Given the description of an element on the screen output the (x, y) to click on. 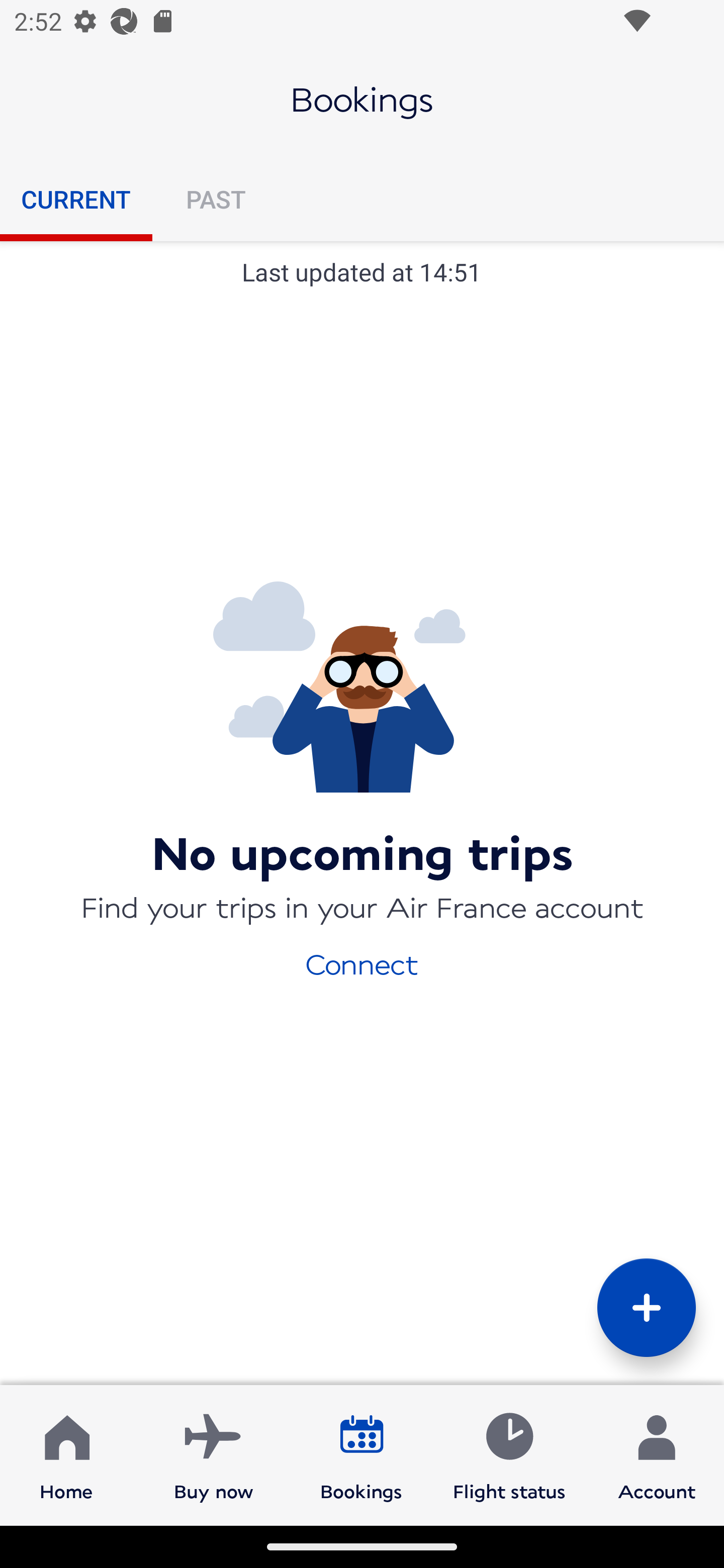
PAST (215, 198)
Connect (361, 963)
Home (66, 1454)
Buy now (213, 1454)
Flight status (509, 1454)
Account (657, 1454)
